Given the description of an element on the screen output the (x, y) to click on. 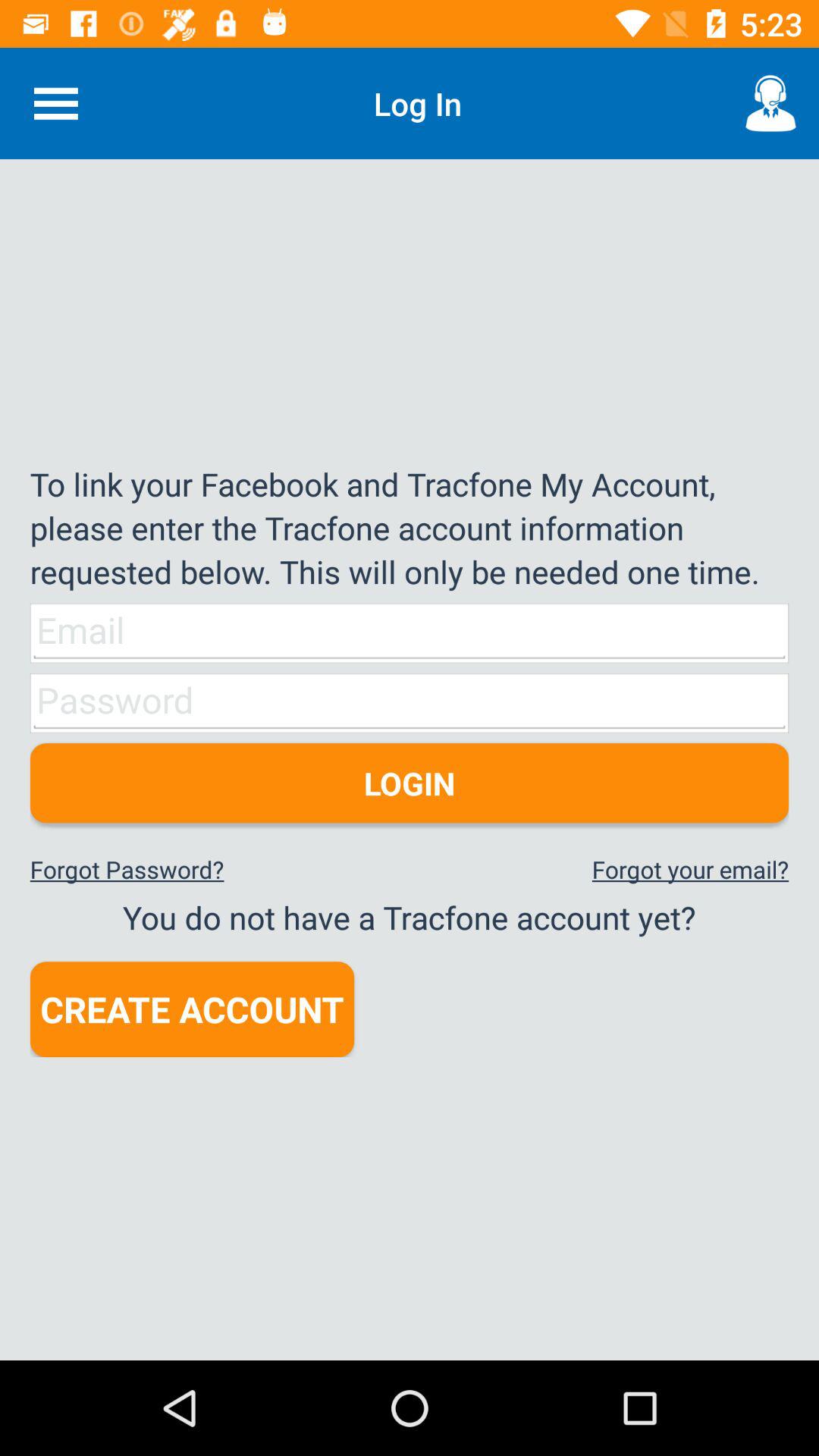
turn on item above you do not (690, 869)
